Given the description of an element on the screen output the (x, y) to click on. 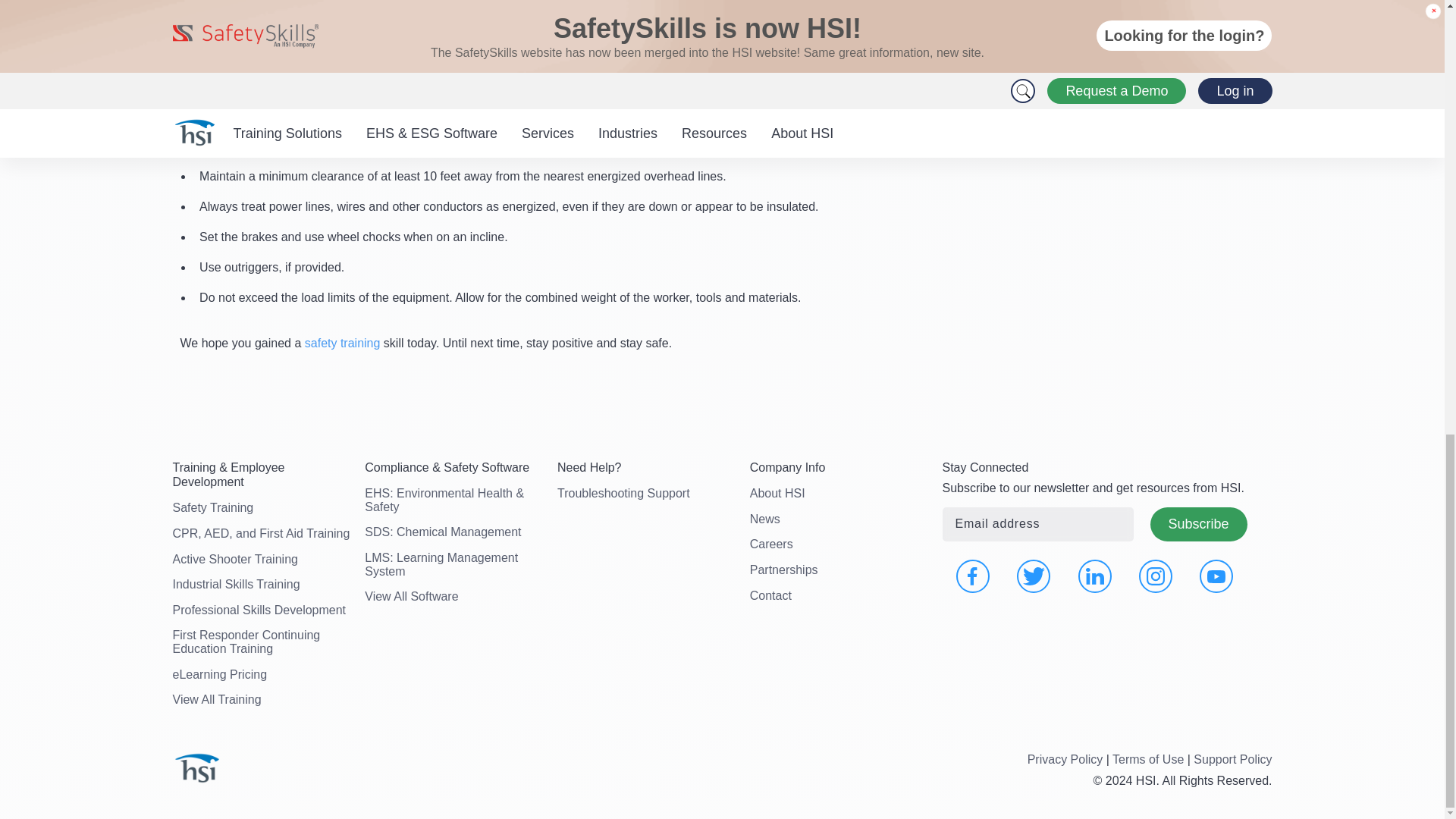
Opens in a new window (1155, 575)
Opens in a new window (973, 575)
Opens in a new window (1216, 575)
Opens in a new window (1032, 575)
Subscribe (1198, 523)
Opens in a new window (1095, 575)
